Given the description of an element on the screen output the (x, y) to click on. 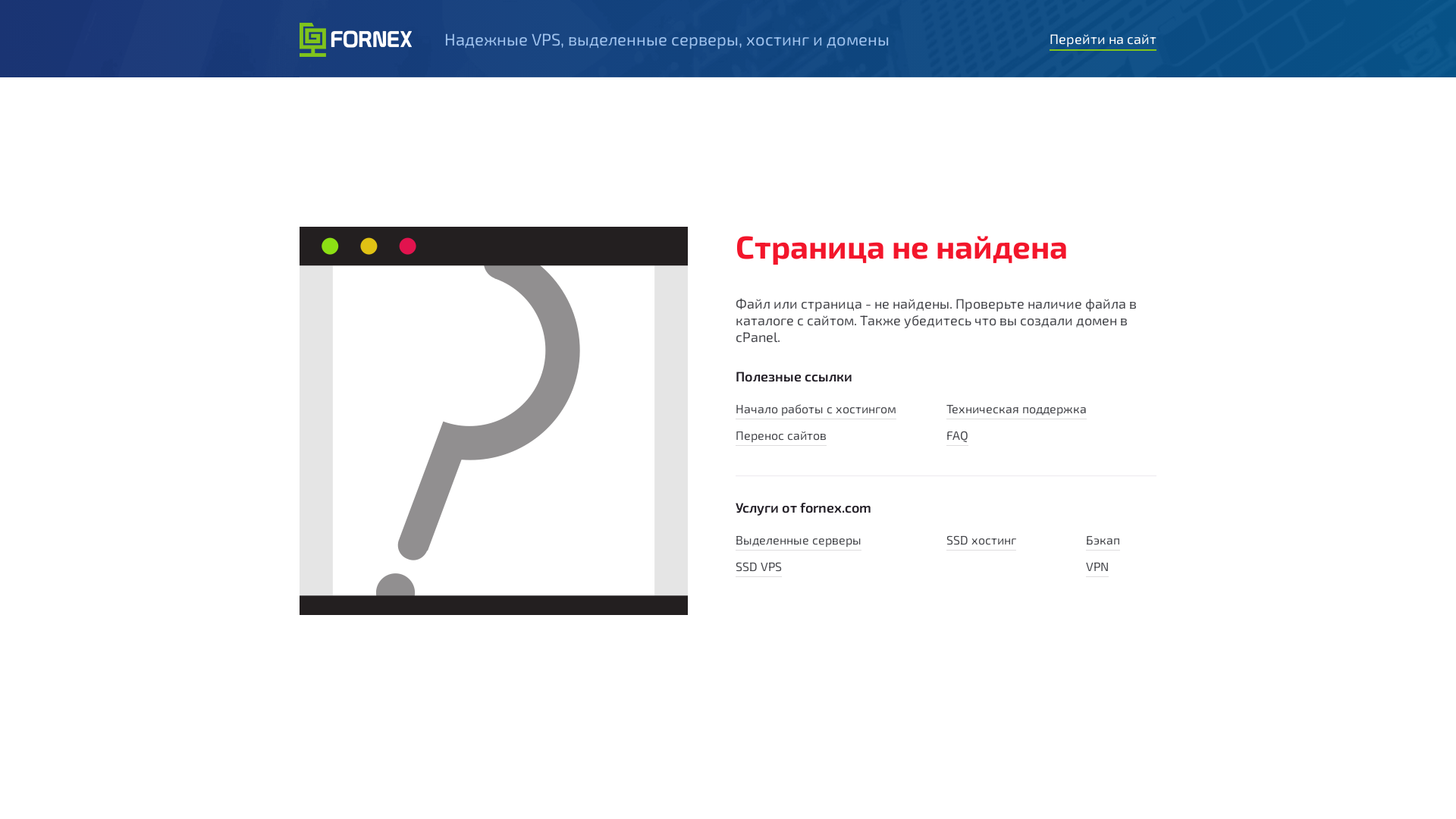
SSD VPS Element type: text (758, 567)
FAQ Element type: text (957, 436)
VPN Element type: text (1096, 567)
